Given the description of an element on the screen output the (x, y) to click on. 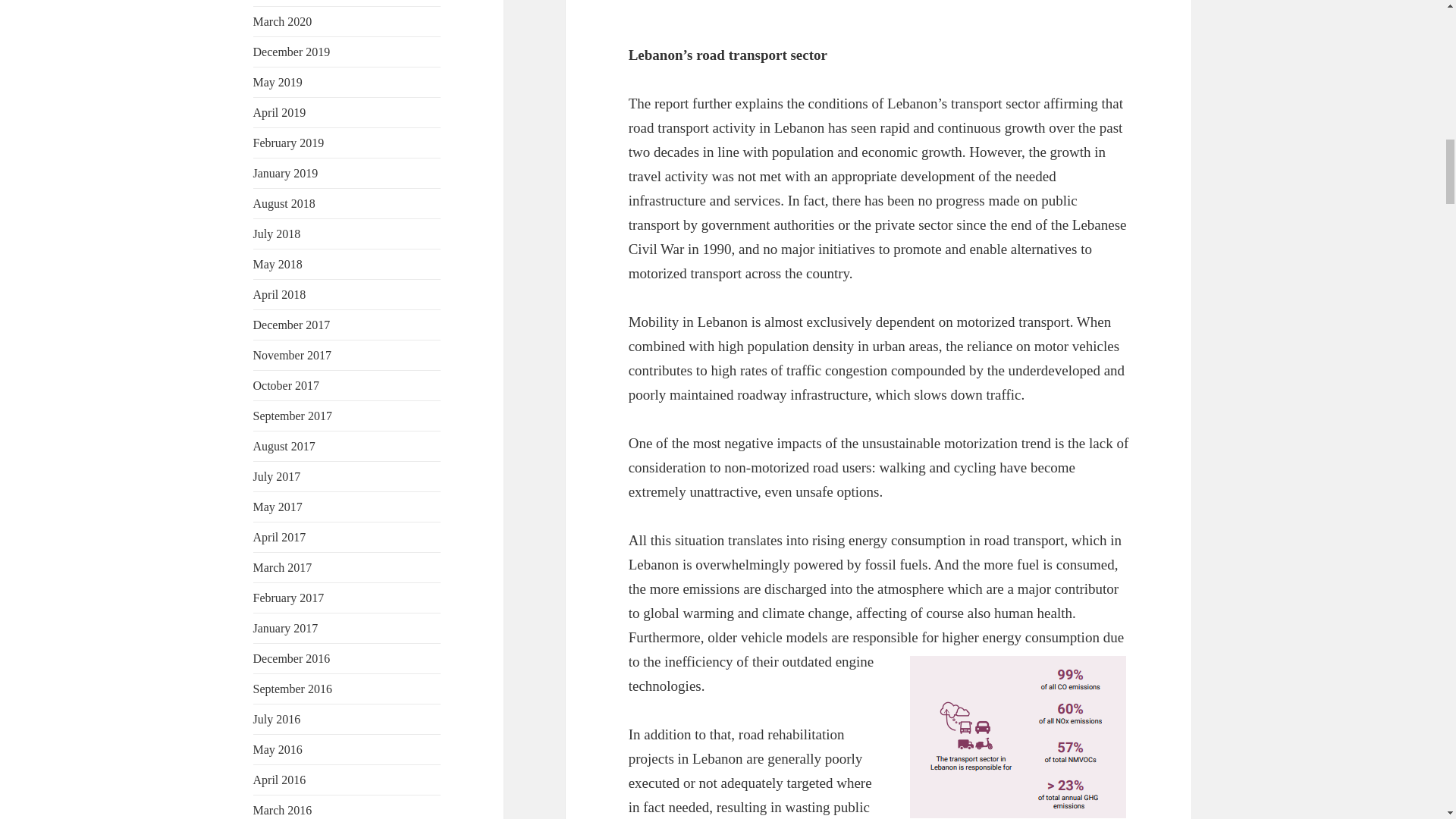
February 2019 (288, 142)
April 2019 (279, 112)
December 2019 (291, 51)
March 2020 (283, 21)
May 2019 (277, 82)
January 2019 (285, 173)
